Given the description of an element on the screen output the (x, y) to click on. 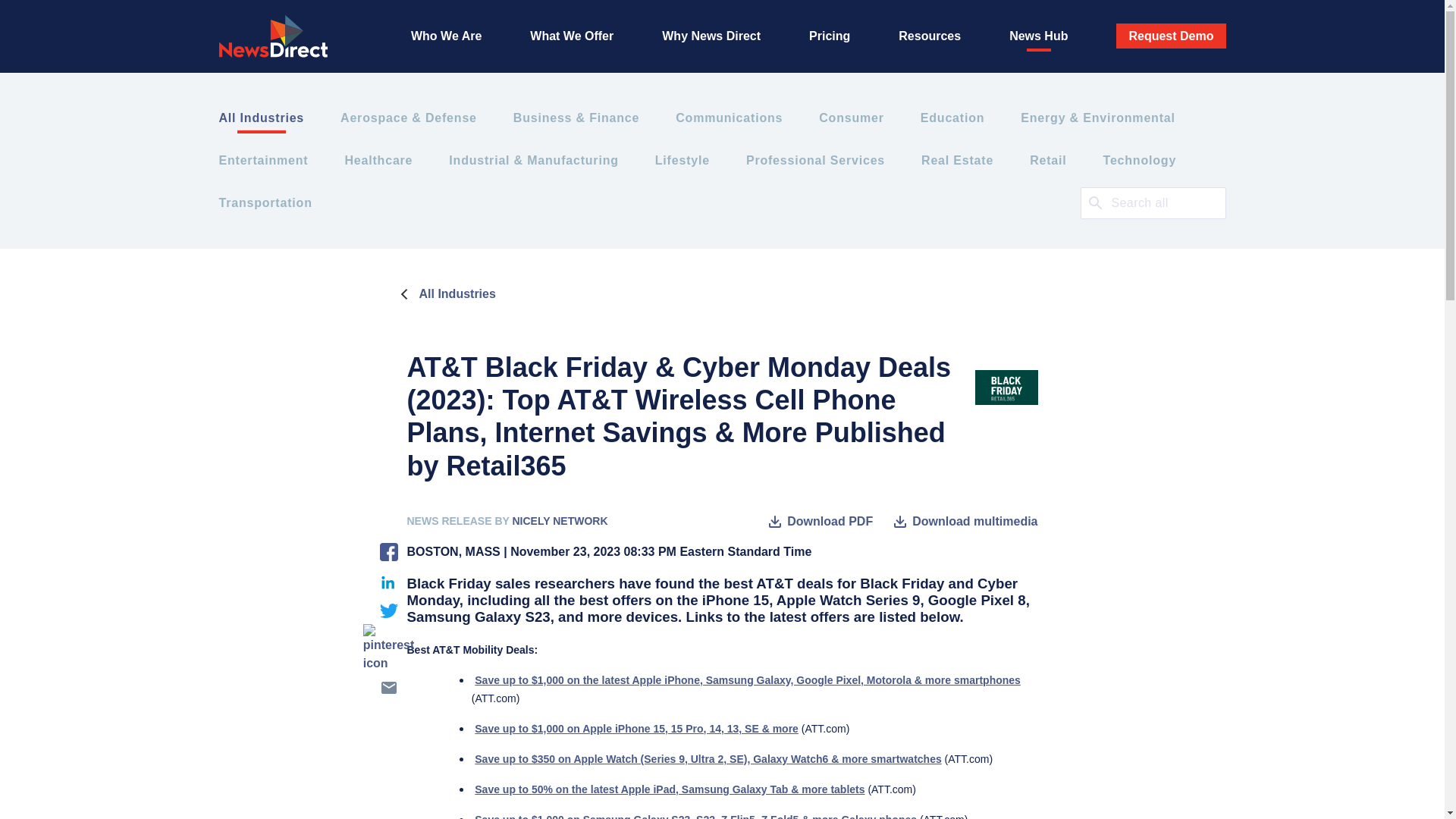
Request Demo (1170, 35)
Retail (1047, 160)
News Hub (1038, 36)
Lifestyle (682, 160)
Transportation (264, 203)
Healthcare (377, 160)
Education (952, 117)
Download multimedia (963, 521)
Who We Are (445, 36)
Consumer (850, 117)
